Given the description of an element on the screen output the (x, y) to click on. 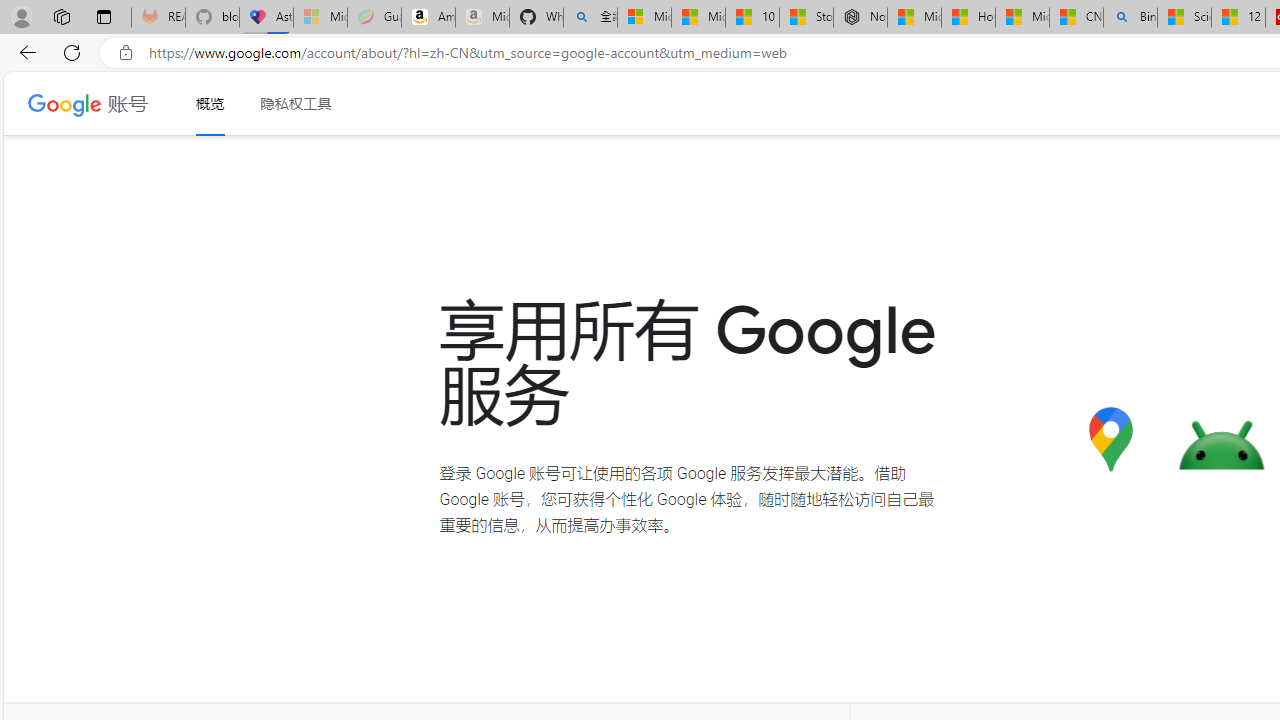
Asthma Inhalers: Names and Types (266, 17)
Nordace - Nordace Siena Is Not An Ordinary Backpack (860, 17)
12 Popular Science Lies that Must be Corrected (1238, 17)
